Given the description of an element on the screen output the (x, y) to click on. 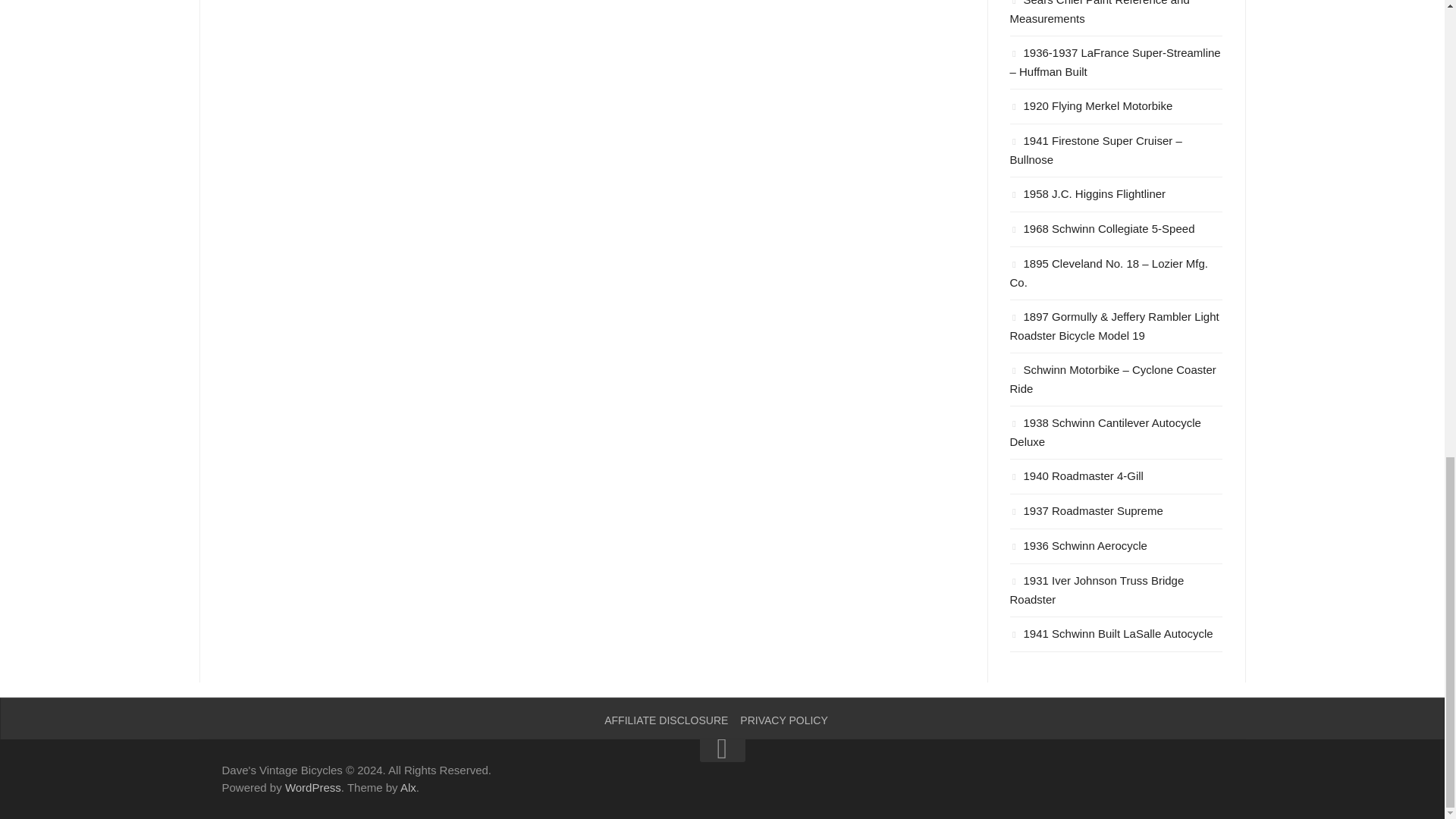
1958 J.C. Higgins Flightliner (1088, 193)
Sears Chief Paint Reference and Measurements (1099, 12)
1920 Flying Merkel Motorbike (1091, 105)
